Given the description of an element on the screen output the (x, y) to click on. 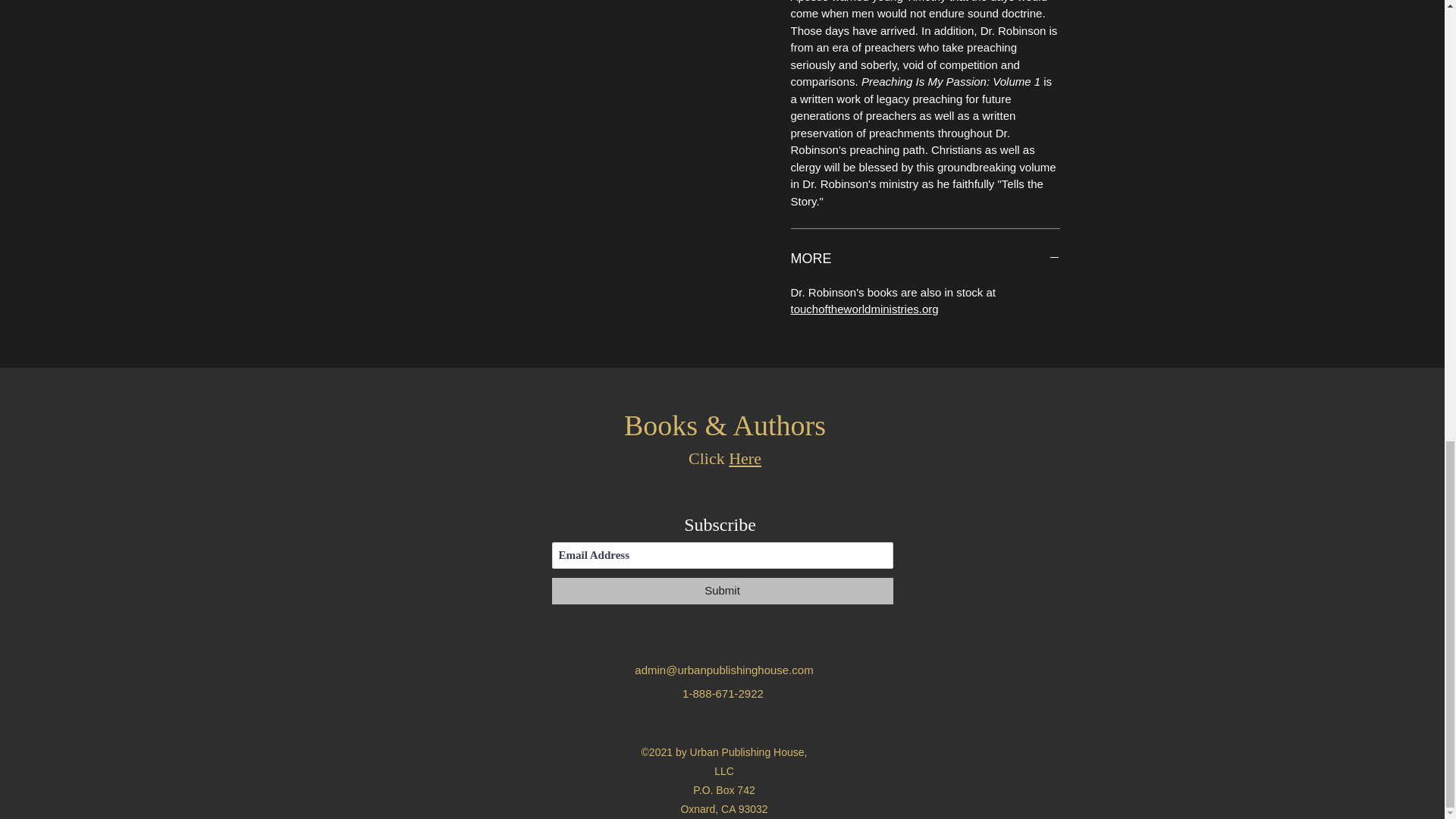
MORE (924, 259)
touchoftheworldministries.org (863, 308)
Submit (722, 591)
Here (745, 457)
